Given the description of an element on the screen output the (x, y) to click on. 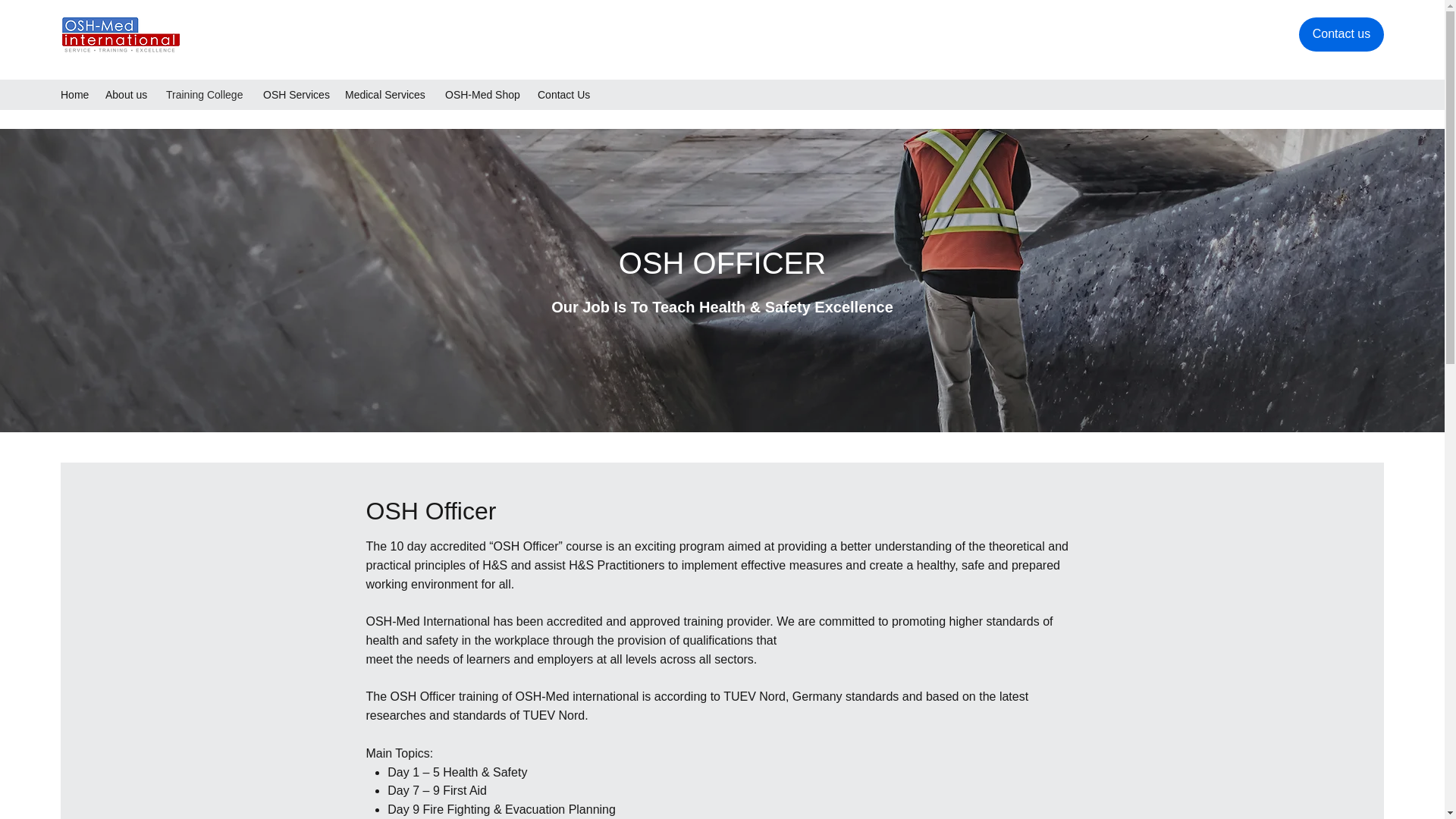
Home (74, 94)
About us (127, 94)
Contact us (1341, 34)
Training College (207, 94)
OSH Services (296, 94)
Medical Services (387, 94)
